Given the description of an element on the screen output the (x, y) to click on. 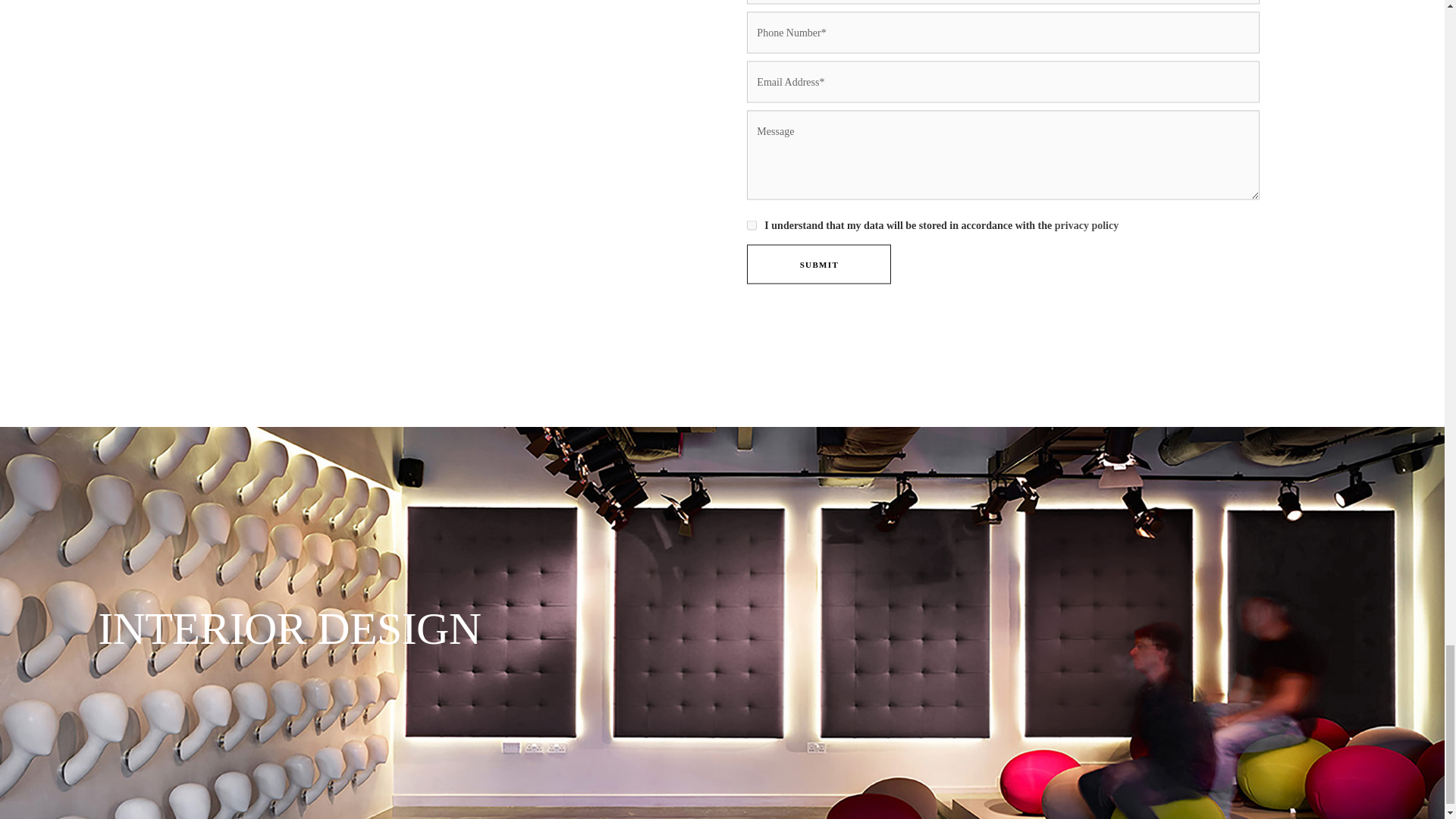
1 (751, 225)
privacy policy (1086, 224)
SUBMIT (818, 264)
